Given the description of an element on the screen output the (x, y) to click on. 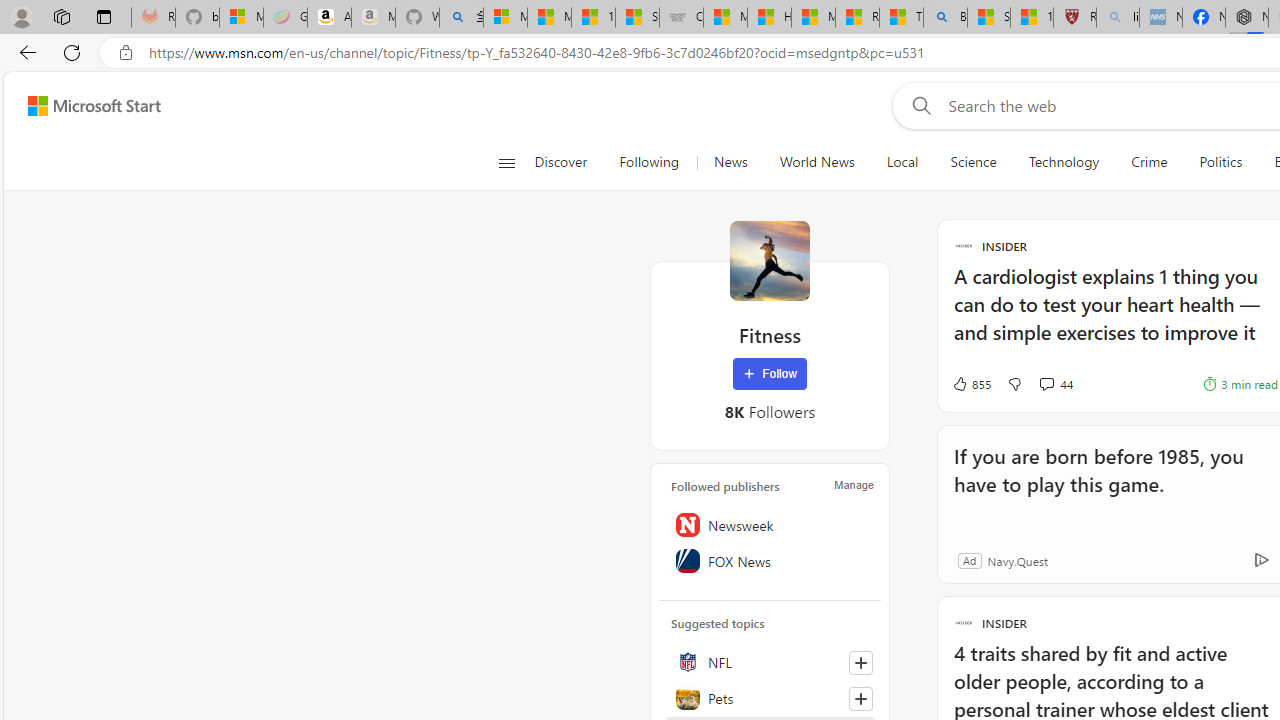
Follow this topic (860, 698)
Stocks - MSN (637, 17)
Class: button-glyph (505, 162)
Skip to content (86, 105)
Pets (770, 697)
Navy.Quest (1017, 560)
Fitness (769, 260)
Science (973, 162)
